Given the description of an element on the screen output the (x, y) to click on. 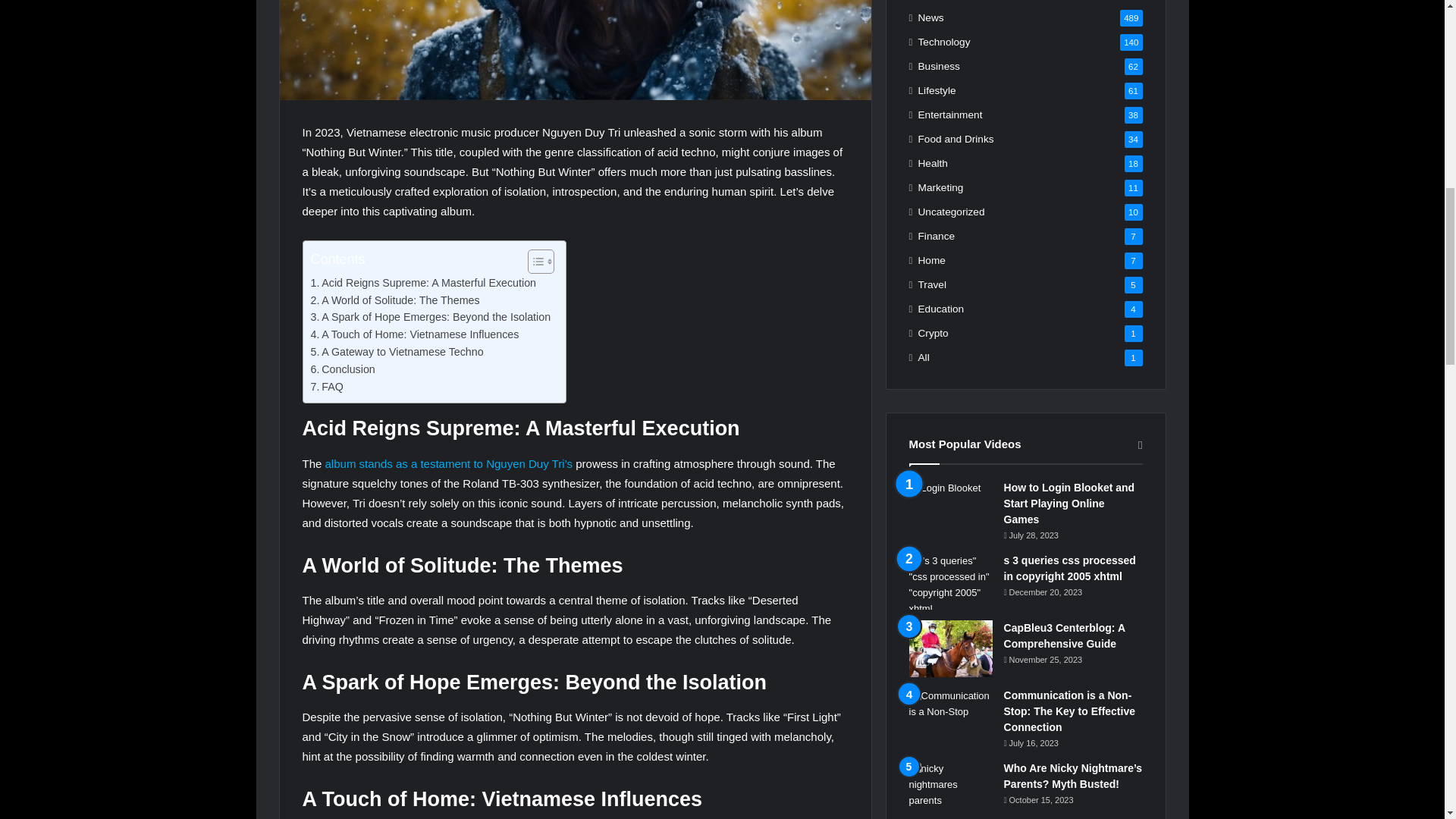
Acid Reigns Supreme: A Masterful Execution (424, 282)
A Touch of Home: Vietnamese Influences (415, 334)
Conclusion (343, 369)
A Gateway to Vietnamese Techno (397, 352)
FAQ (327, 386)
A Spark of Hope Emerges: Beyond the Isolation (431, 316)
A World of Solitude: The Themes (395, 300)
Acid Reigns Supreme: A Masterful Execution (424, 282)
